Given the description of an element on the screen output the (x, y) to click on. 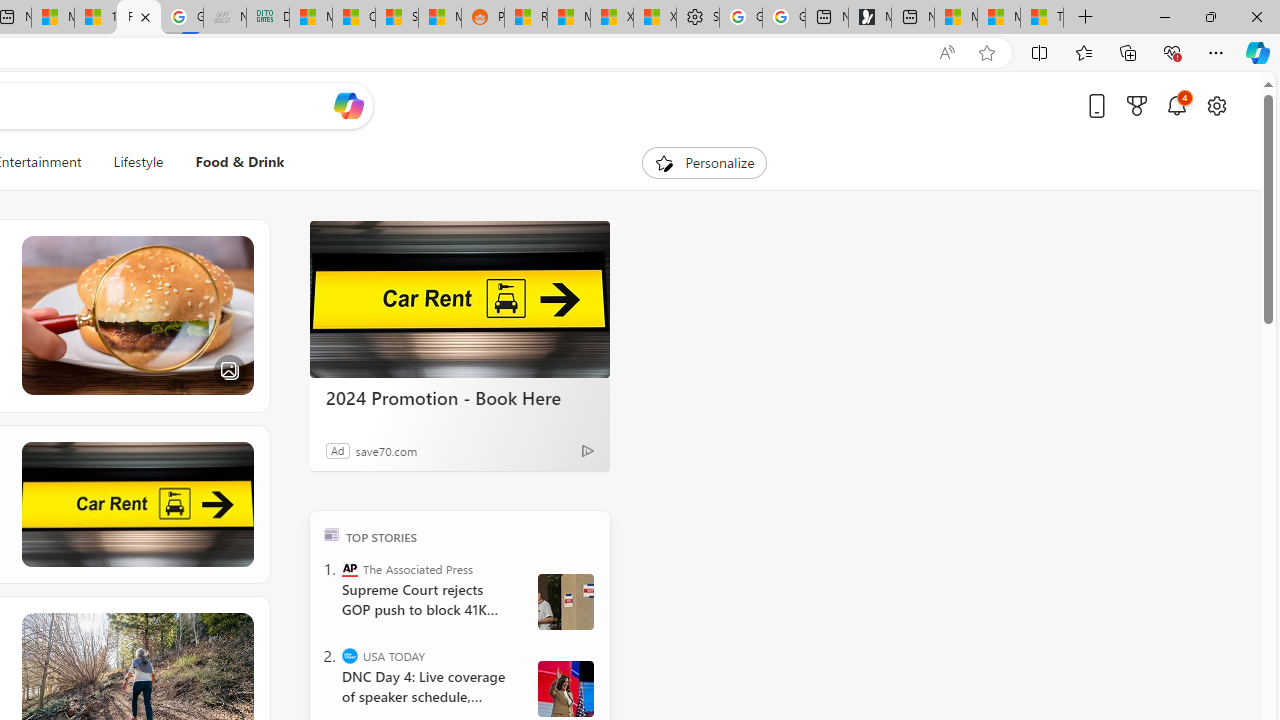
USA TODAY (349, 655)
Food and Drink - MSN (138, 17)
